Given the description of an element on the screen output the (x, y) to click on. 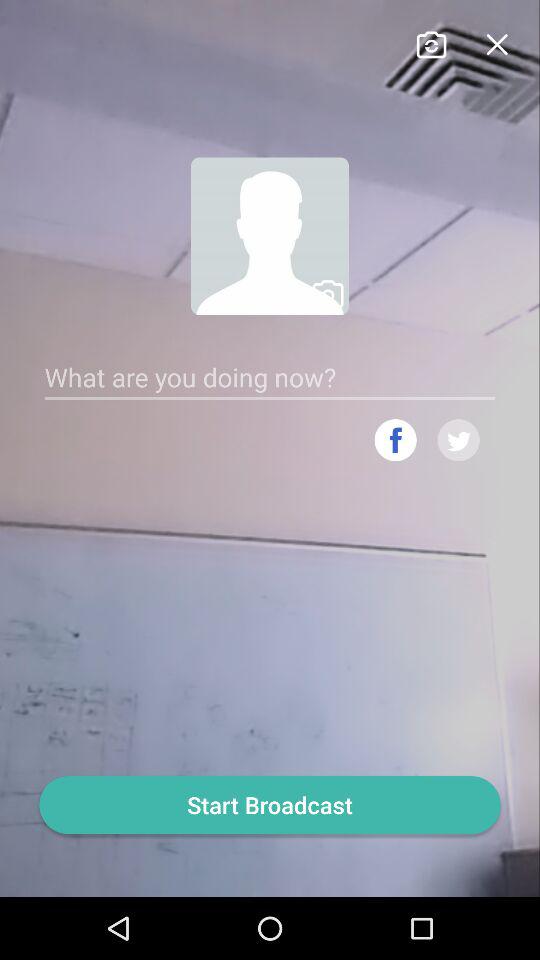
link twitter (458, 440)
